Given the description of an element on the screen output the (x, y) to click on. 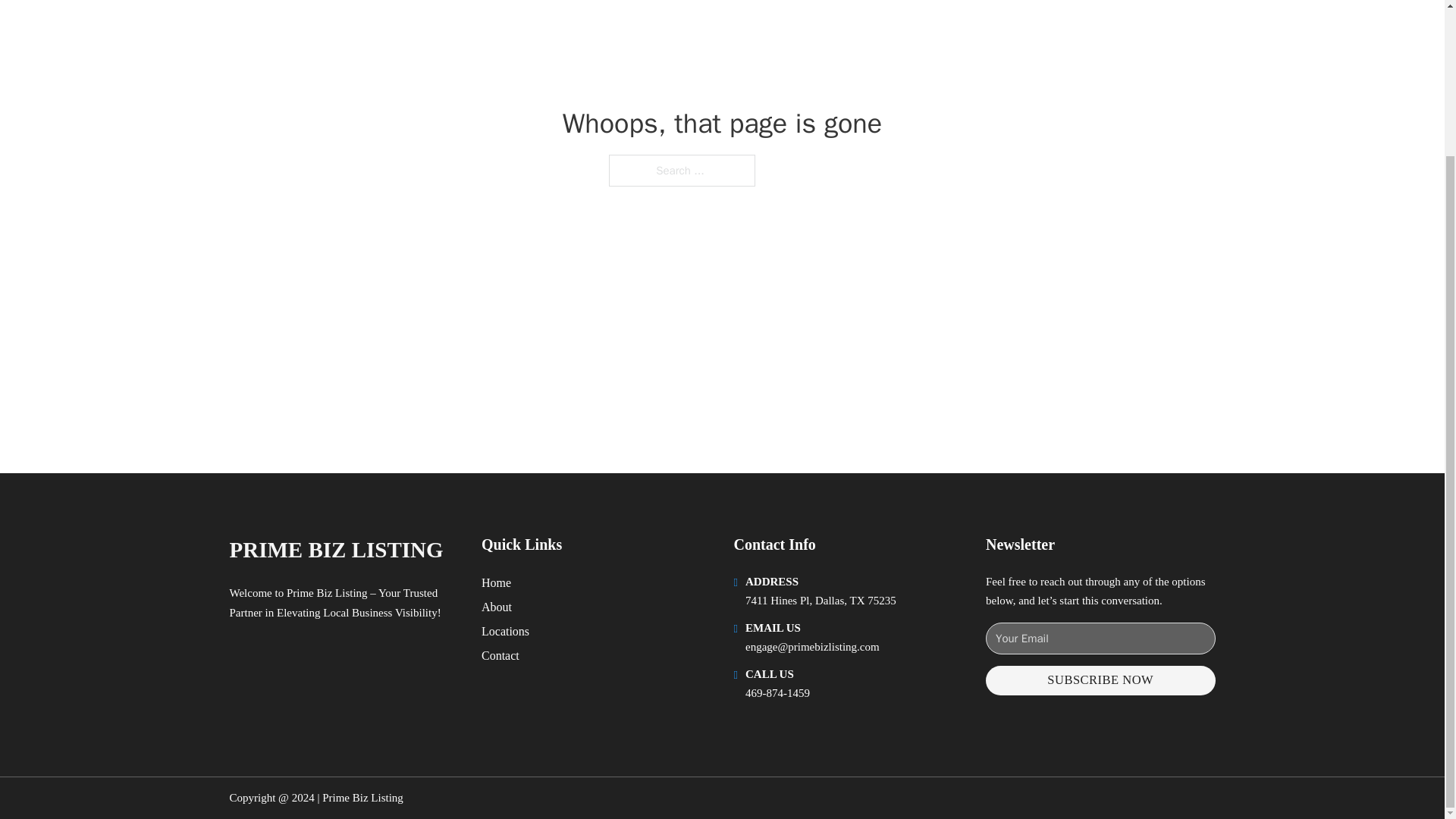
PRIME BIZ LISTING (335, 549)
Home (496, 582)
Contact (500, 655)
SUBSCRIBE NOW (1100, 680)
Locations (505, 630)
469-874-1459 (777, 693)
About (496, 607)
